Given the description of an element on the screen output the (x, y) to click on. 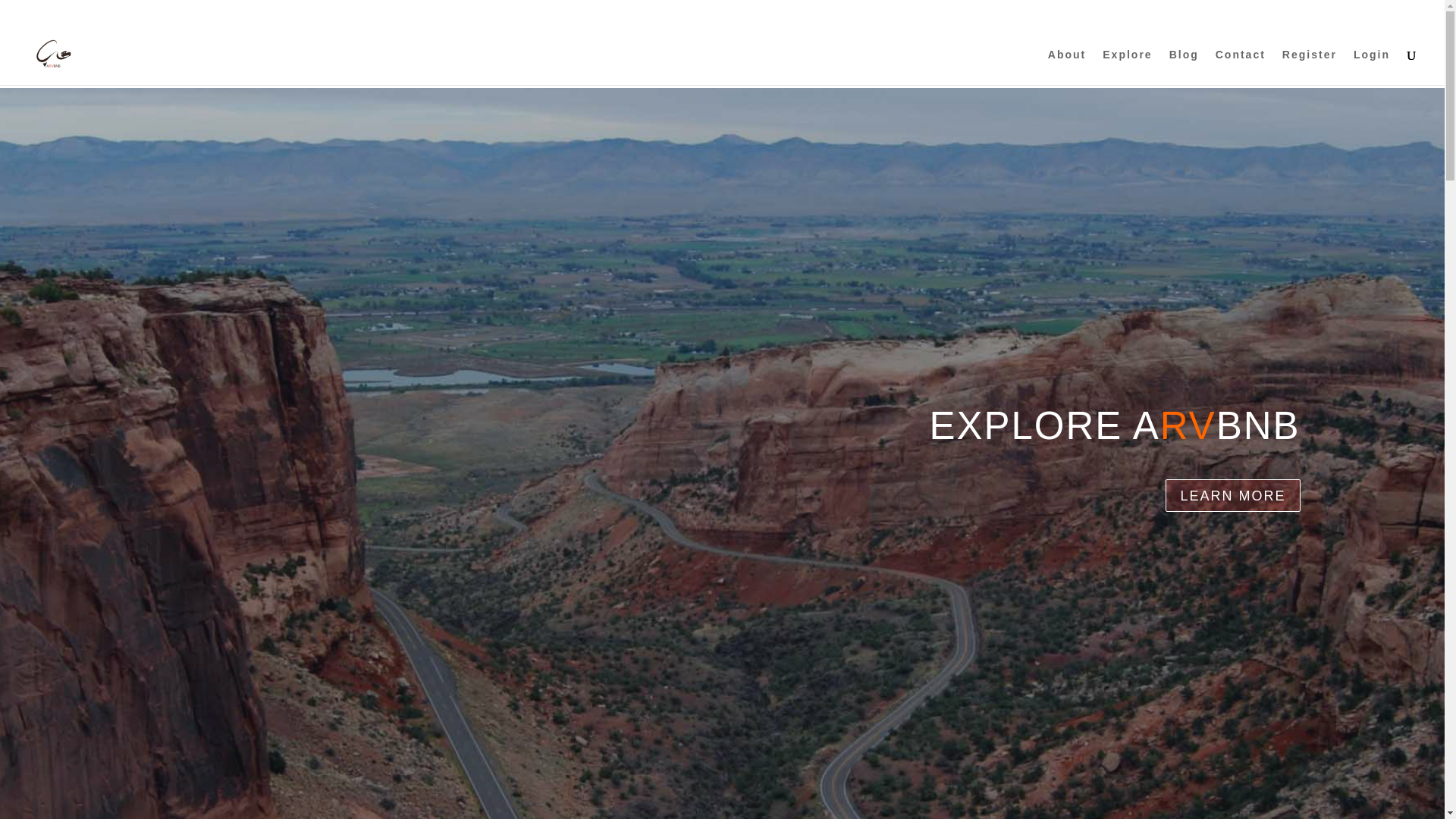
Contact (1240, 67)
Login (1372, 67)
About (1067, 67)
Blog (1183, 67)
Explore (1126, 67)
LEARN MORE (1233, 495)
Register (1309, 67)
